Given the description of an element on the screen output the (x, y) to click on. 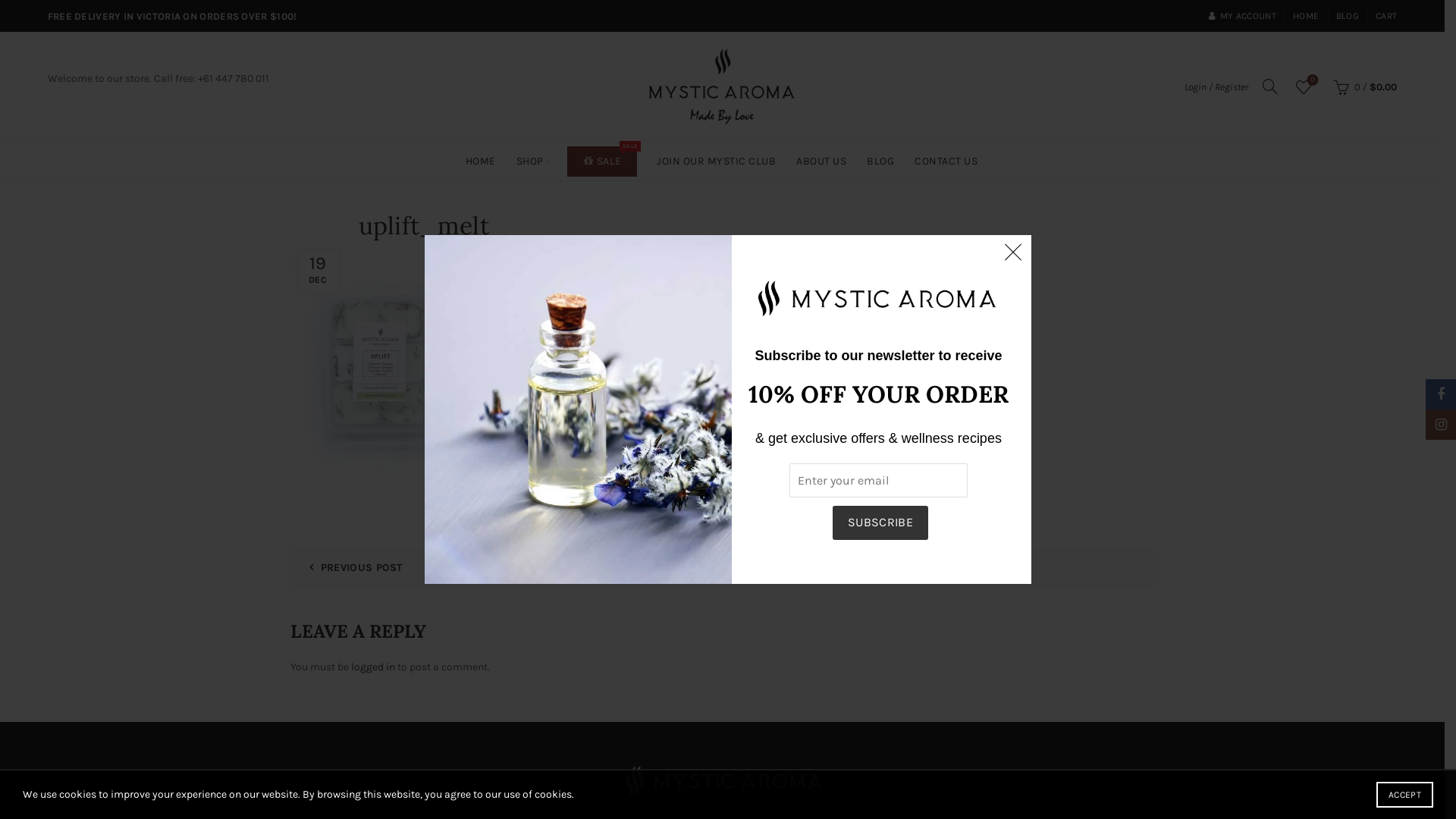
ACCEPT Element type: text (1404, 794)
SHOP Element type: text (529, 161)
HOME Element type: text (1305, 15)
SALE
SALE Element type: text (602, 161)
CART Element type: text (1385, 15)
CONTACT US Element type: text (945, 161)
HOME Element type: text (480, 161)
ABOUT US Element type: text (821, 161)
MY ACCOUNT Element type: text (1242, 15)
19
DEC Element type: text (317, 270)
BLOG Element type: text (879, 161)
PREVIOUS POST Element type: text (349, 567)
BLOG Element type: text (1347, 15)
Email Element type: text (742, 501)
Search Element type: text (30, 45)
Wishlist
0 Element type: text (1303, 86)
Mystic Aroma, AU Element type: hover (721, 781)
Login / Register Element type: text (1216, 86)
JOIN OUR MYSTIC CLUB Element type: text (715, 161)
logged in Element type: text (372, 666)
0 / $0.00 Element type: text (1362, 86)
SUBSCRIBE Element type: text (880, 522)
Facebook Element type: text (702, 501)
